Given the description of an element on the screen output the (x, y) to click on. 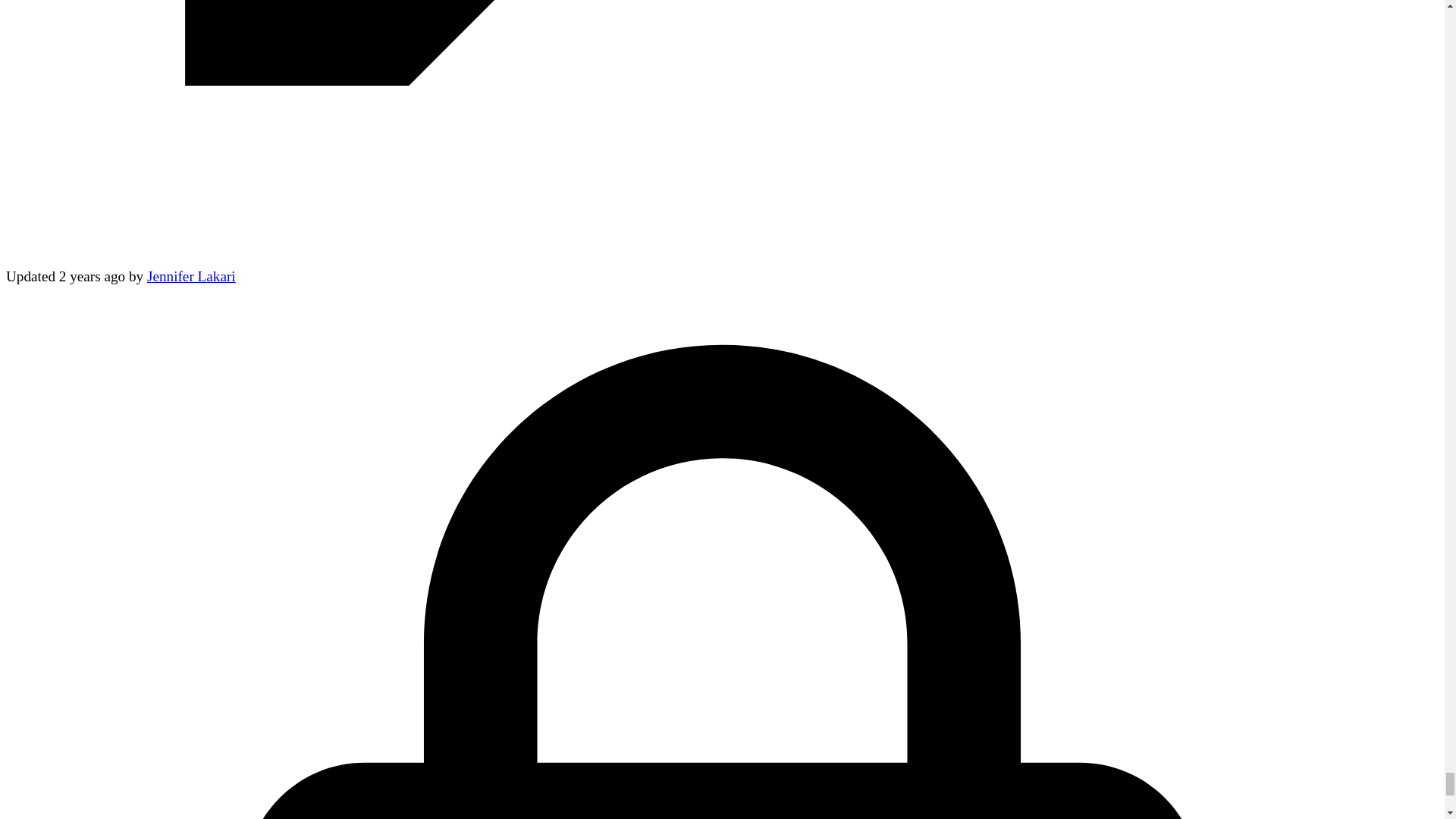
Fri, Apr 22, 2022 2:00 PM (92, 276)
